Given the description of an element on the screen output the (x, y) to click on. 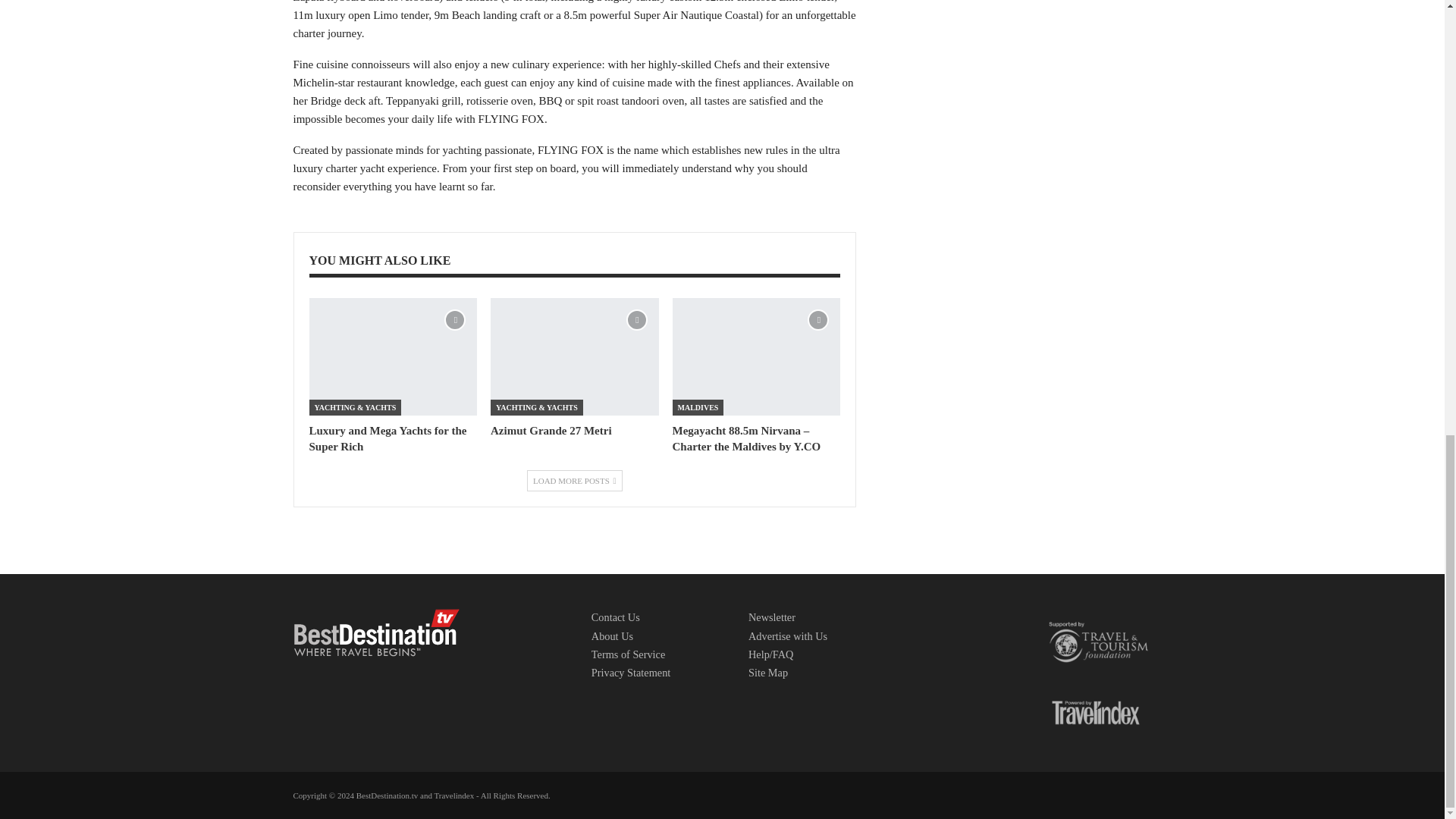
Azimut Grande 27 Metri (574, 356)
Luxury and Mega Yachts for the Super Rich (387, 438)
Luxury and Mega Yachts for the Super Rich (392, 356)
Load More Posts (575, 480)
Azimut Grande 27 Metri (550, 430)
